Given the description of an element on the screen output the (x, y) to click on. 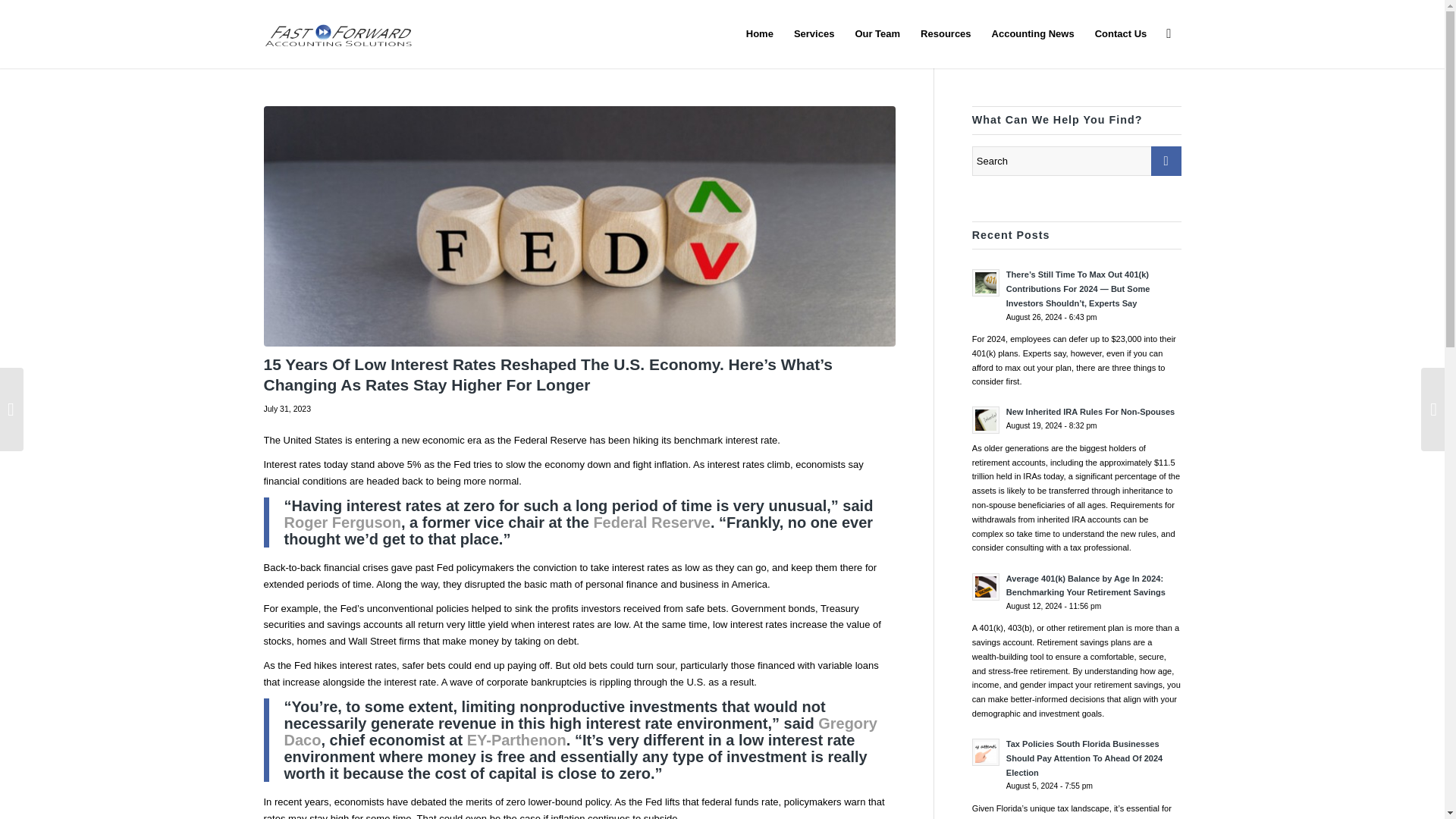
Fast-Forward-Accounting-Solutions-Logo-Web (337, 33)
Services (813, 33)
Our Team (877, 33)
Resources (944, 33)
Accounting News (1032, 33)
Contact Us (1120, 33)
